Given the description of an element on the screen output the (x, y) to click on. 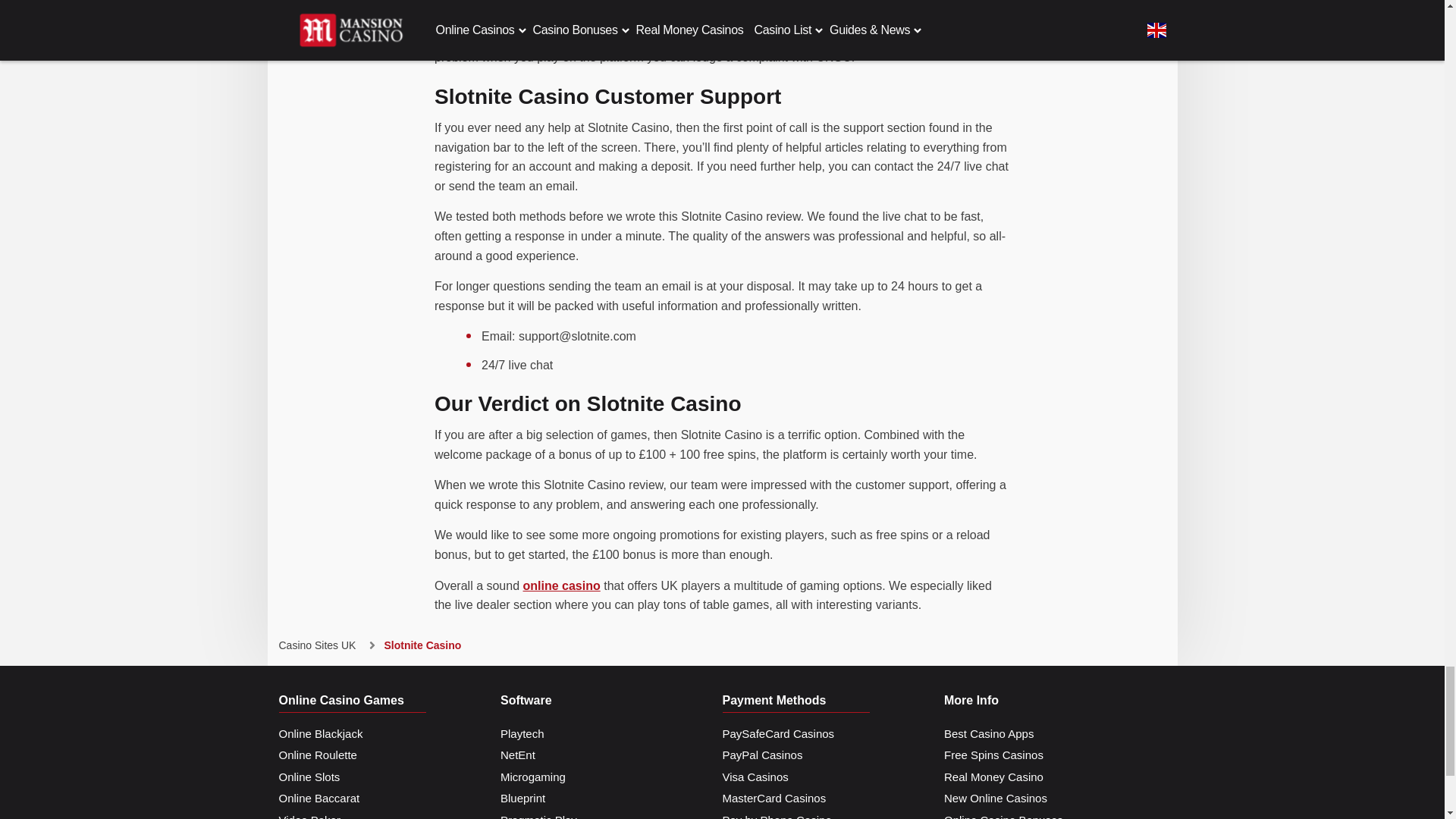
PayPal Casinos (762, 755)
Visa Casinos (754, 777)
Pay by Phone Casino (776, 814)
PaySafeCard Casinos (778, 734)
MasterCard Casinos (773, 798)
Real Money Casino (993, 777)
